Given the description of an element on the screen output the (x, y) to click on. 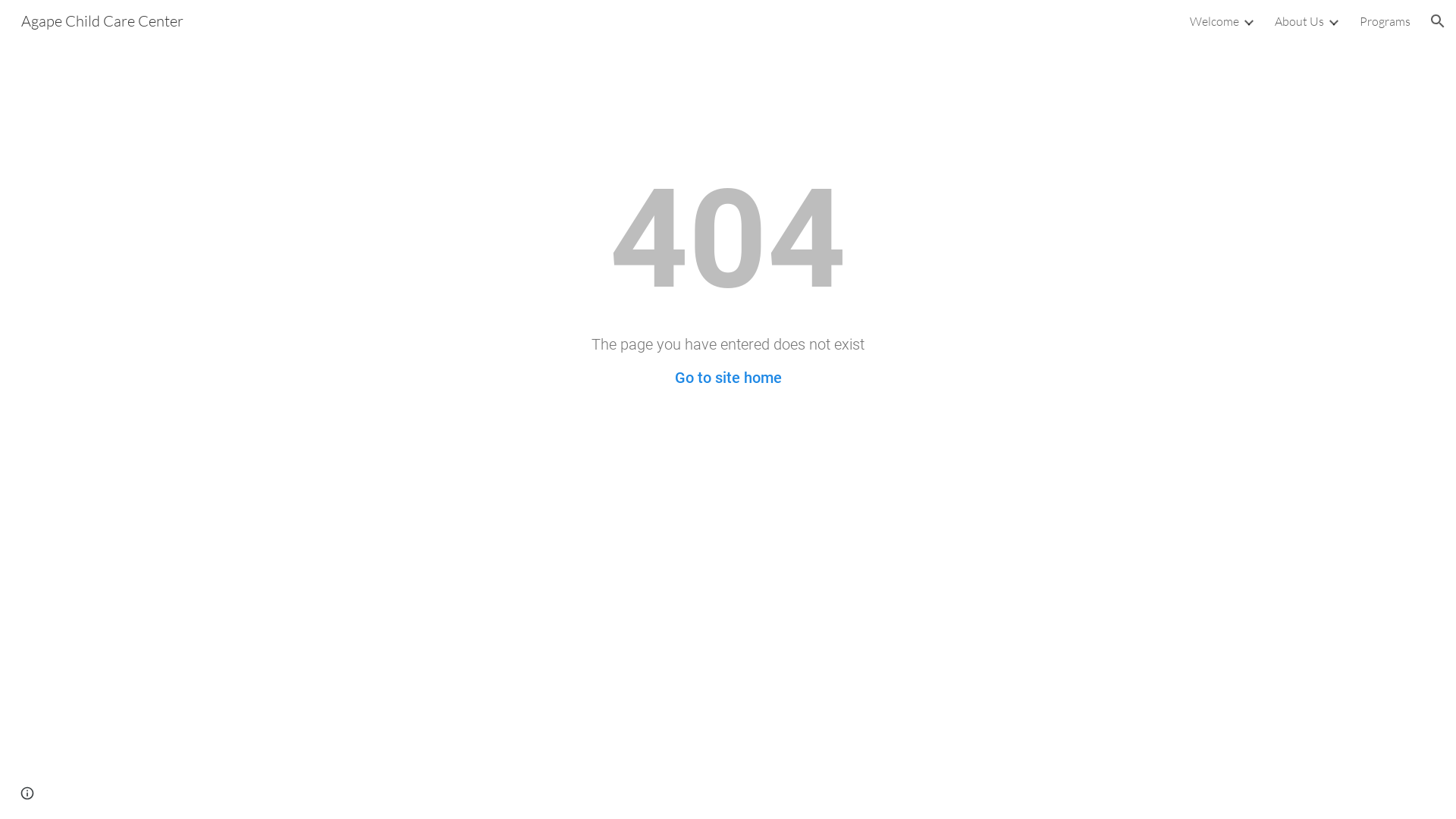
Agape Child Care Center Element type: text (102, 18)
Expand/Collapse Element type: hover (1332, 20)
Welcome Element type: text (1214, 20)
About Us Element type: text (1299, 20)
Expand/Collapse Element type: hover (1248, 20)
Programs Element type: text (1384, 20)
Go to site home Element type: text (727, 377)
